Given the description of an element on the screen output the (x, y) to click on. 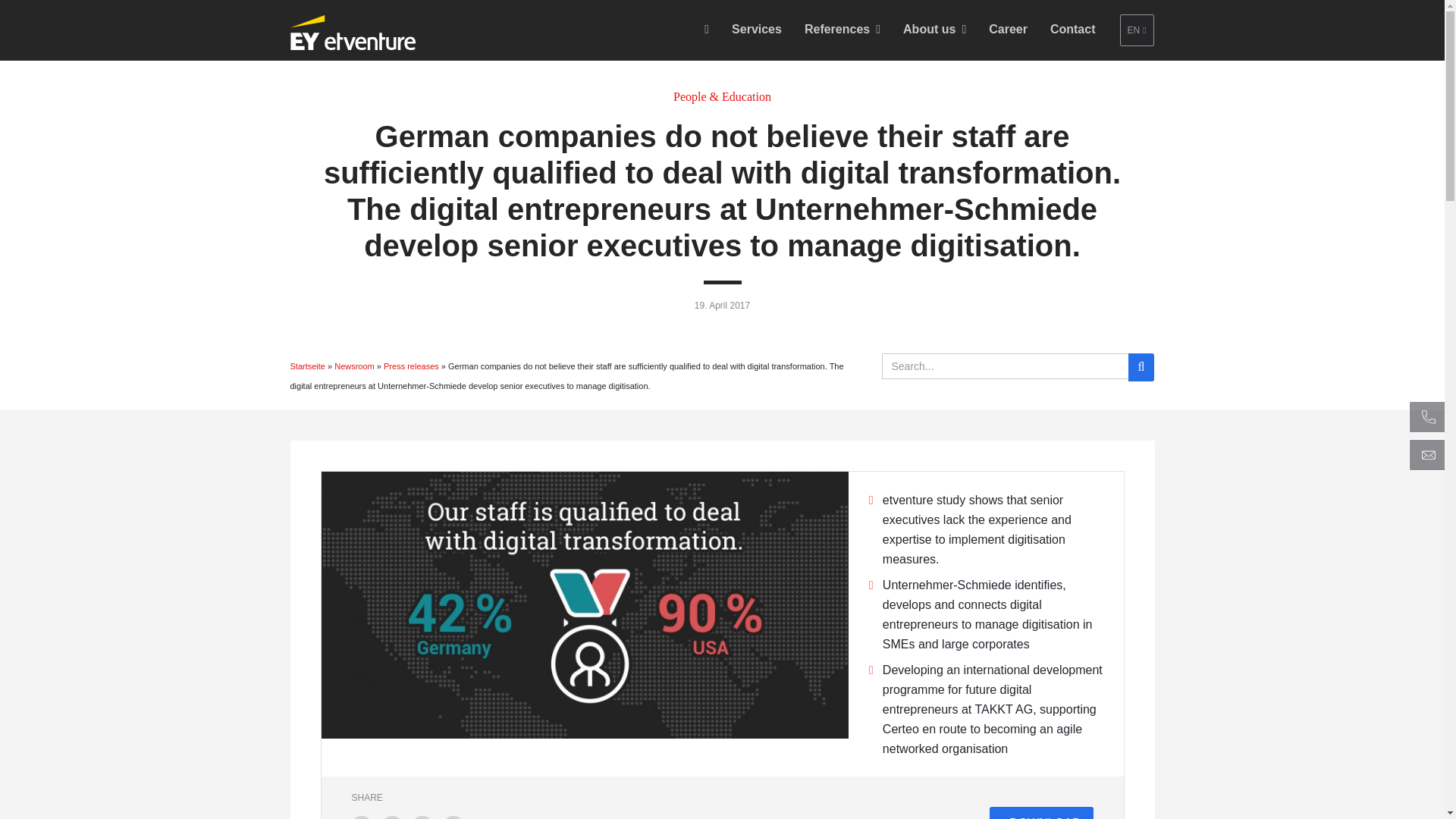
Press releases (411, 366)
References (842, 29)
Contact (1072, 29)
Career (1007, 29)
Services (756, 29)
EN (1137, 30)
About us (933, 29)
Startseite (306, 366)
Newsroom (354, 366)
